Given the description of an element on the screen output the (x, y) to click on. 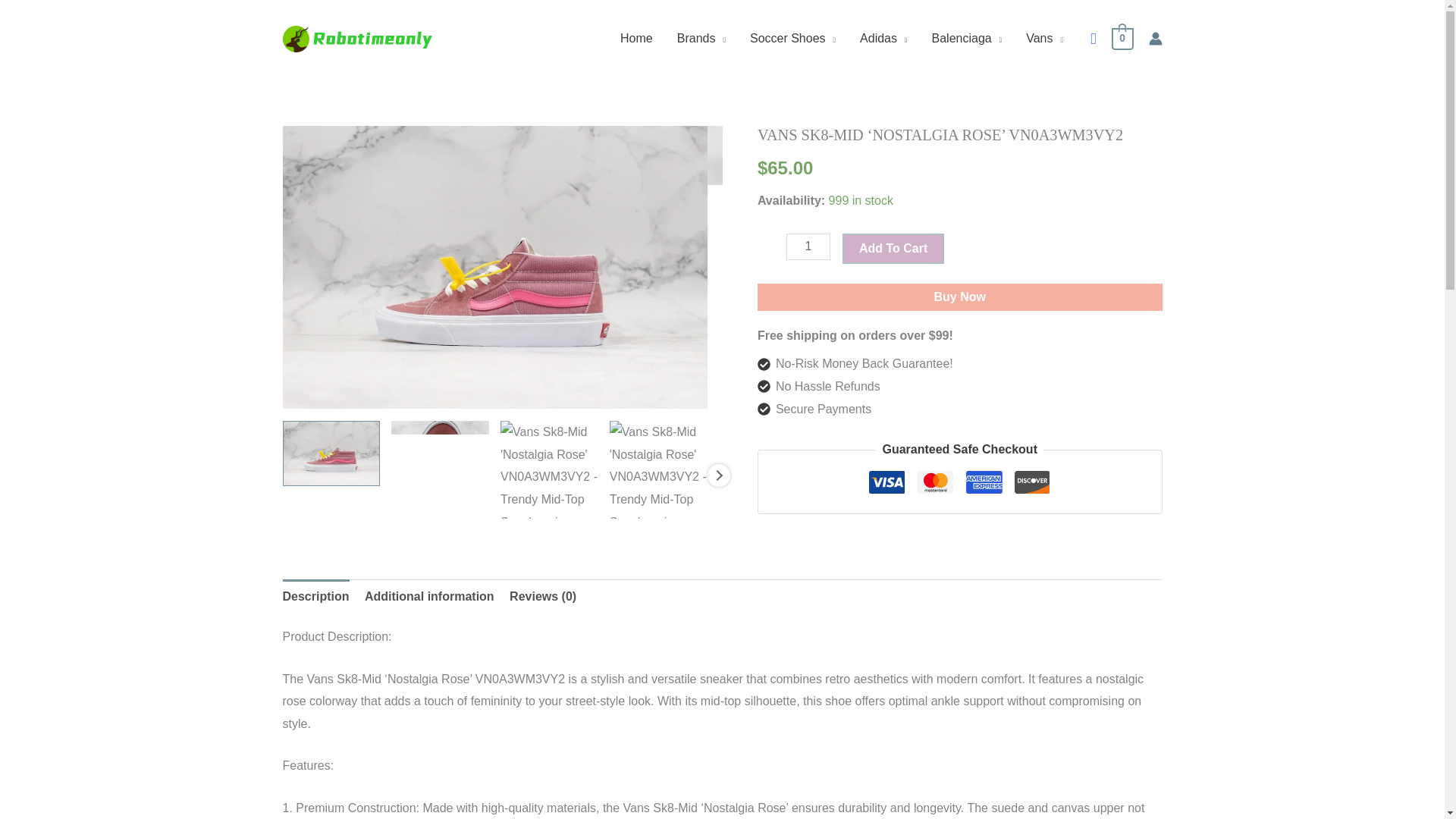
Home (636, 38)
Soccer Shoes (792, 38)
Adidas (882, 38)
1 (807, 246)
